Given the description of an element on the screen output the (x, y) to click on. 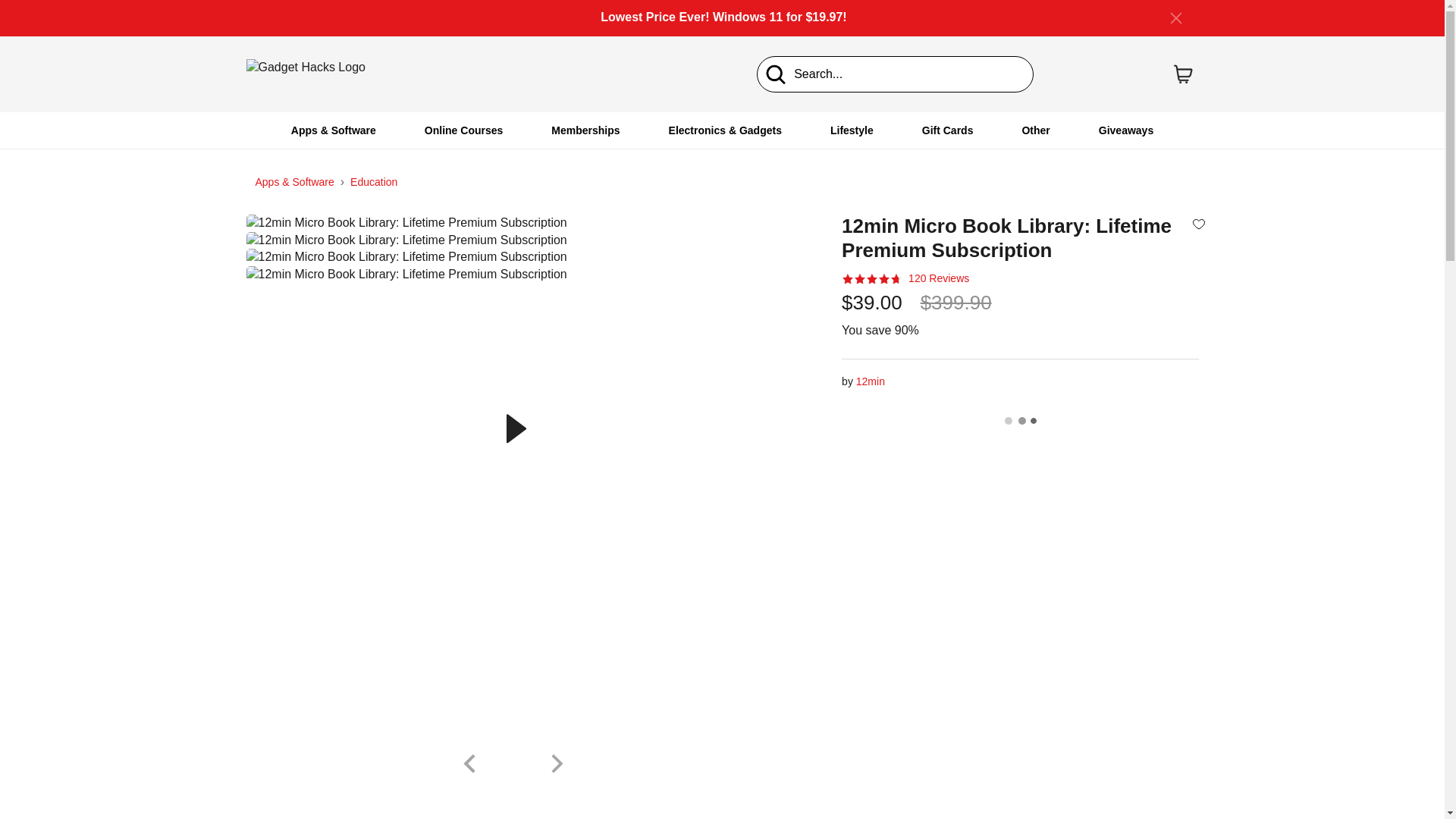
Add to wishlist (1198, 223)
